Given the description of an element on the screen output the (x, y) to click on. 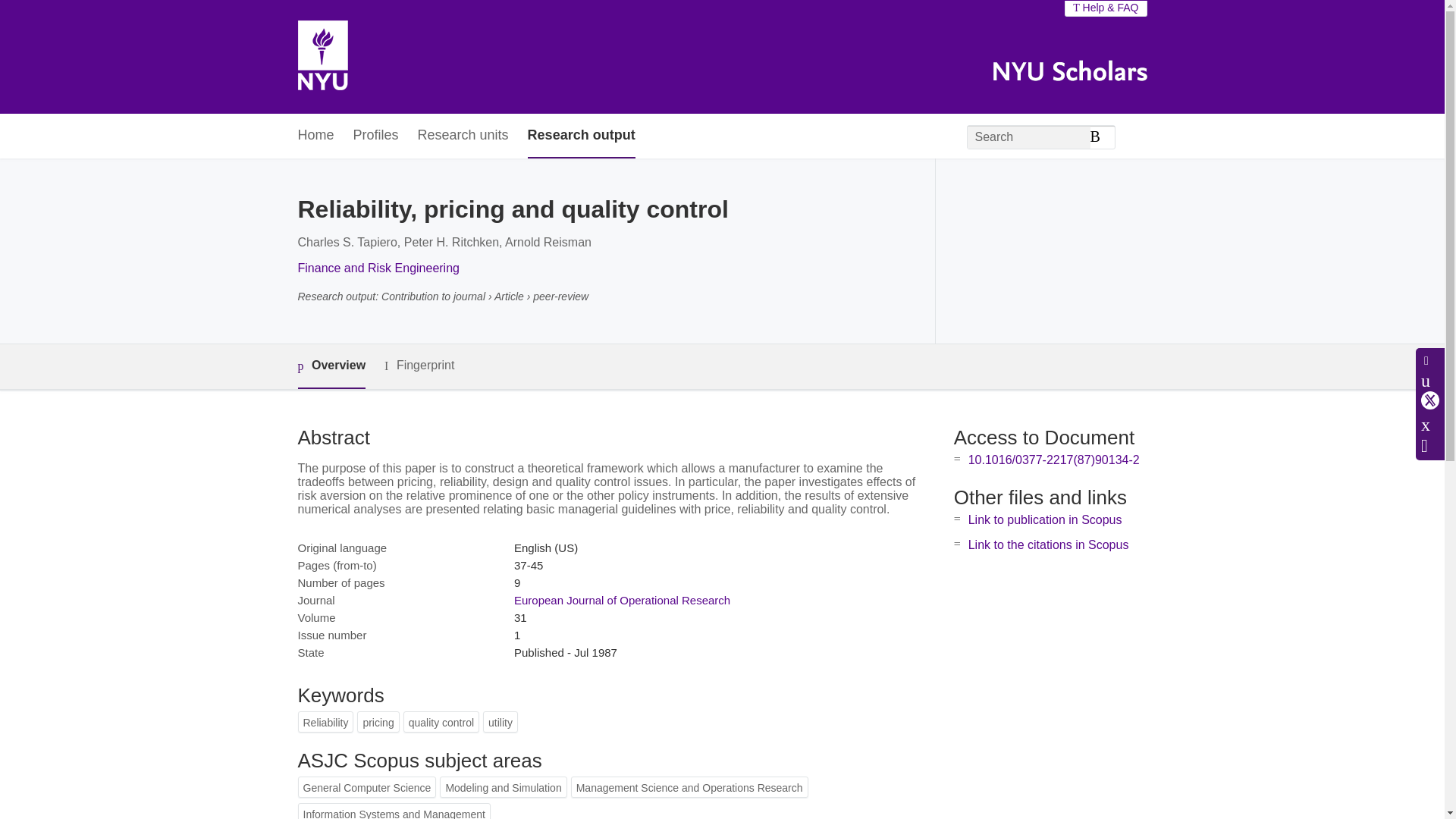
Profiles (375, 135)
Finance and Risk Engineering (377, 267)
European Journal of Operational Research (621, 599)
Research units (462, 135)
Overview (331, 366)
Link to publication in Scopus (1045, 519)
Fingerprint (419, 365)
Research output (580, 135)
Link to the citations in Scopus (1048, 544)
